Given the description of an element on the screen output the (x, y) to click on. 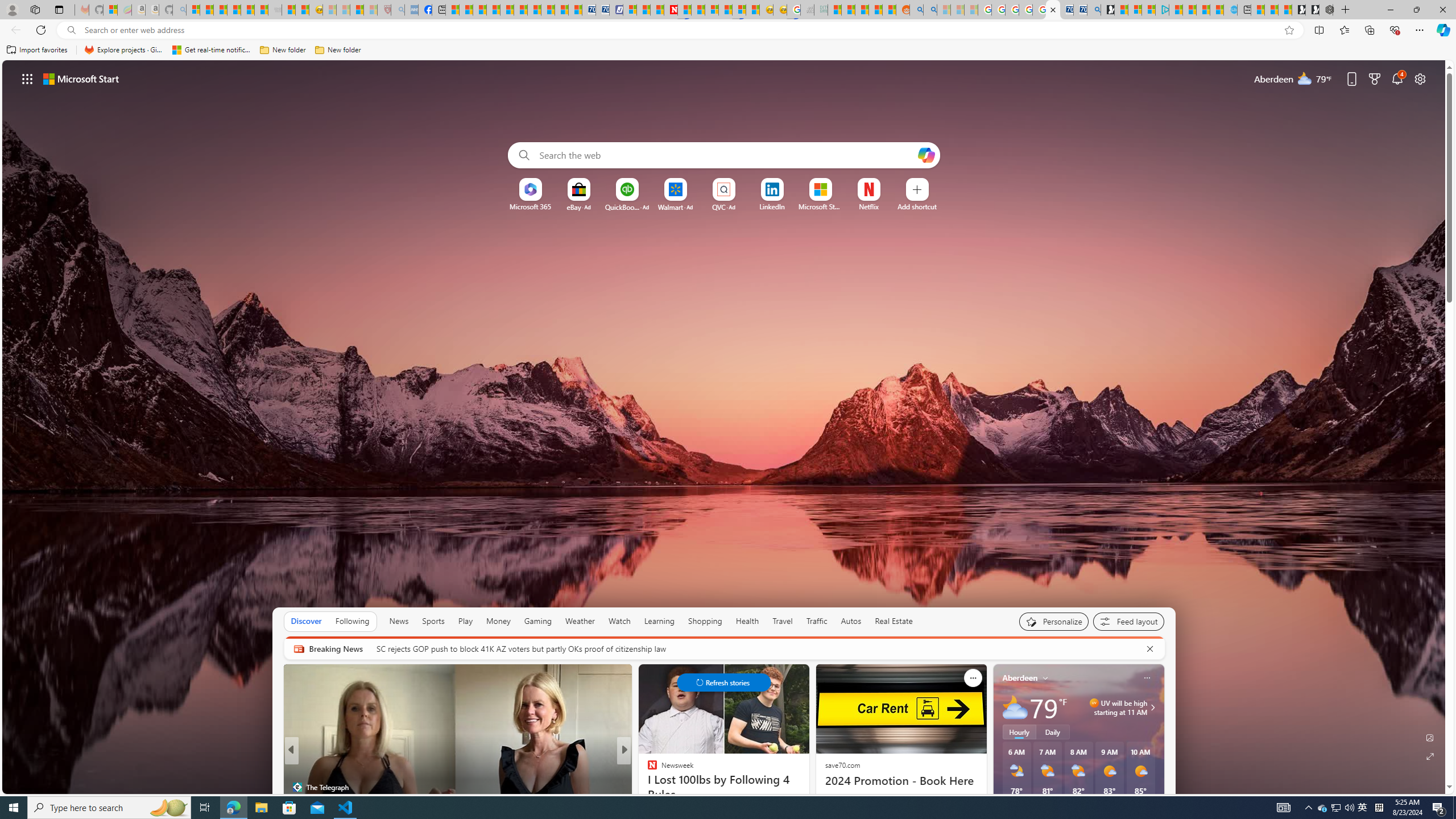
App launcher (27, 78)
Class: icon-img (1146, 677)
Home | Sky Blue Bikes - Sky Blue Bikes (1229, 9)
Import favorites (36, 49)
My location (1045, 677)
News (398, 621)
Recipes - MSN - Sleeping (328, 9)
Personalize your feed" (1054, 621)
